Given the description of an element on the screen output the (x, y) to click on. 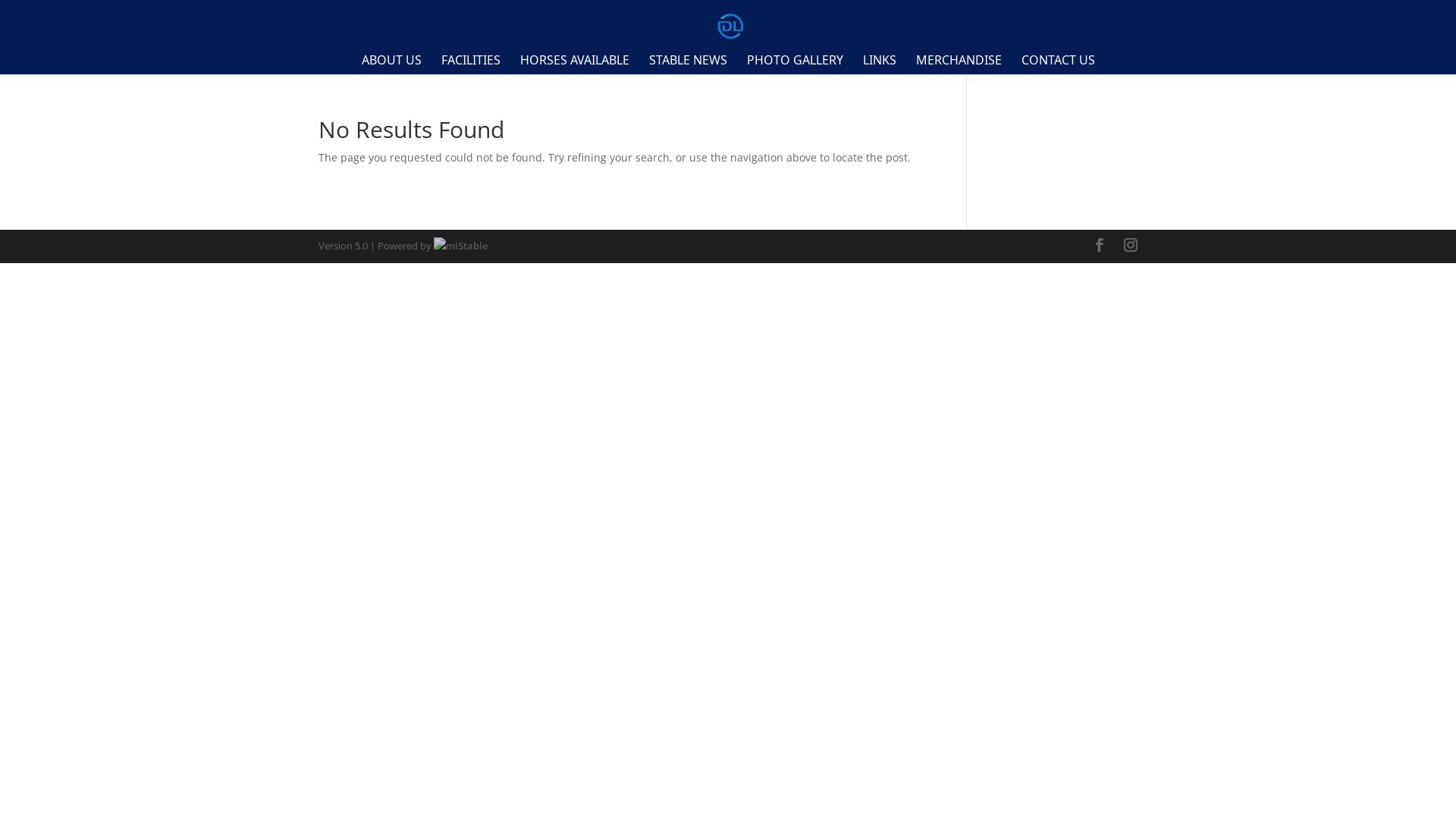
LINKS Element type: text (879, 64)
STABLE NEWS Element type: text (688, 64)
ABOUT US Element type: text (390, 64)
MERCHANDISE Element type: text (958, 64)
HORSES AVAILABLE Element type: text (574, 64)
PHOTO GALLERY Element type: text (794, 64)
CONTACT US Element type: text (1057, 64)
Horse Management Software Element type: hover (460, 245)
FACILITIES Element type: text (470, 64)
